Given the description of an element on the screen output the (x, y) to click on. 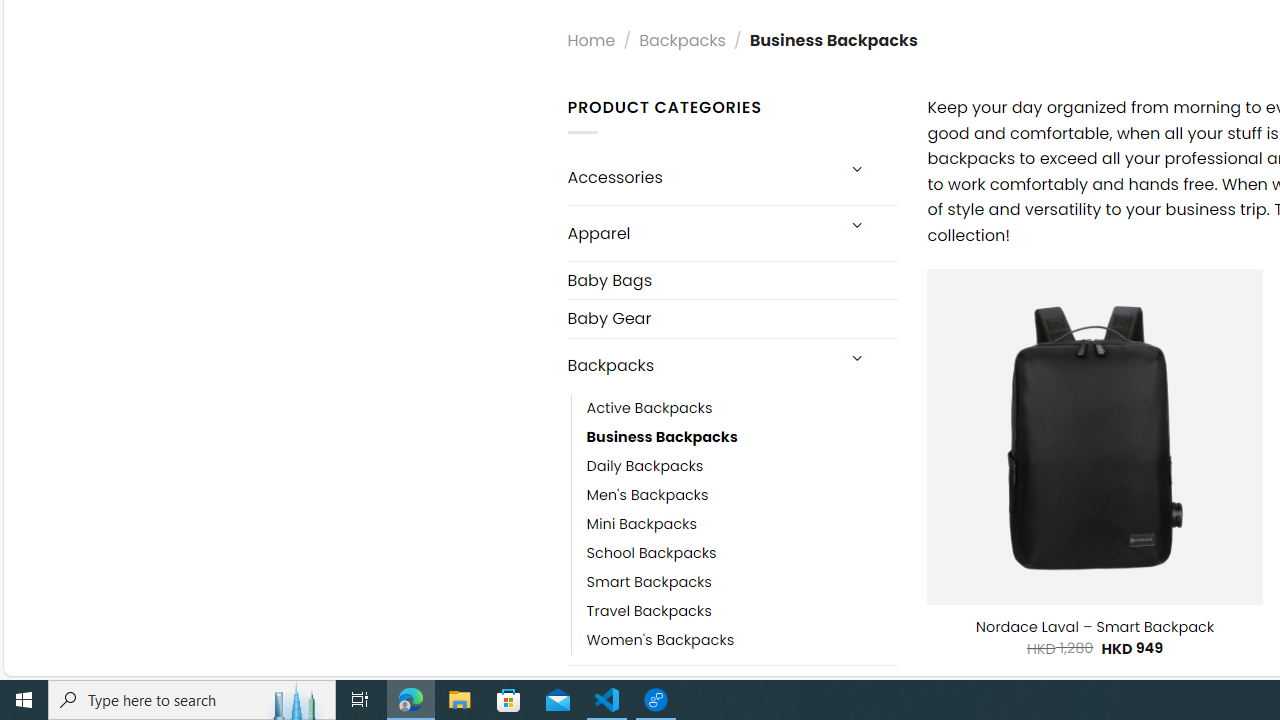
Mini Backpacks (742, 524)
Daily Backpacks (645, 465)
Daily Backpacks (742, 465)
